Given the description of an element on the screen output the (x, y) to click on. 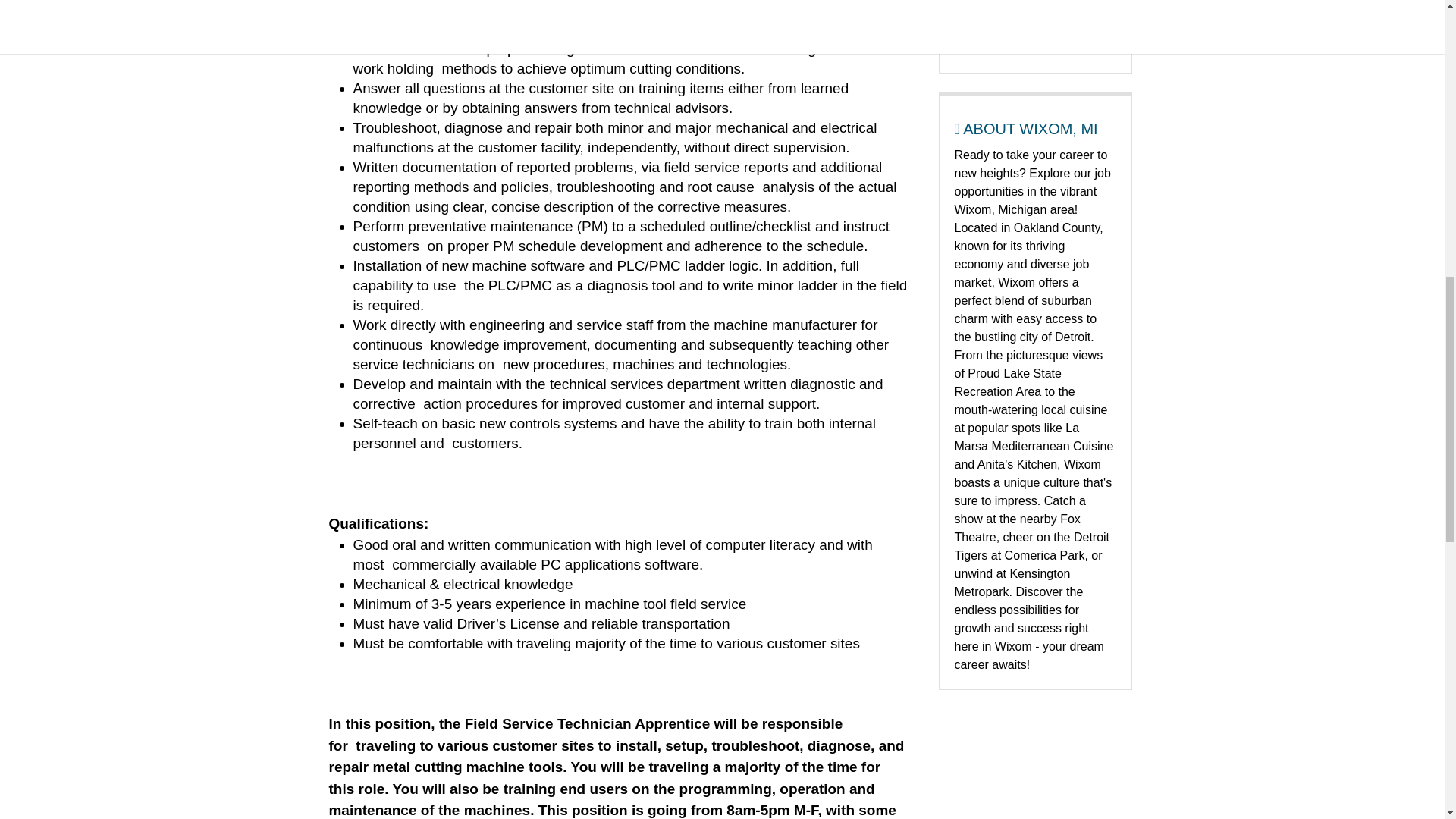
CNC Machinist (1008, 6)
